Given the description of an element on the screen output the (x, y) to click on. 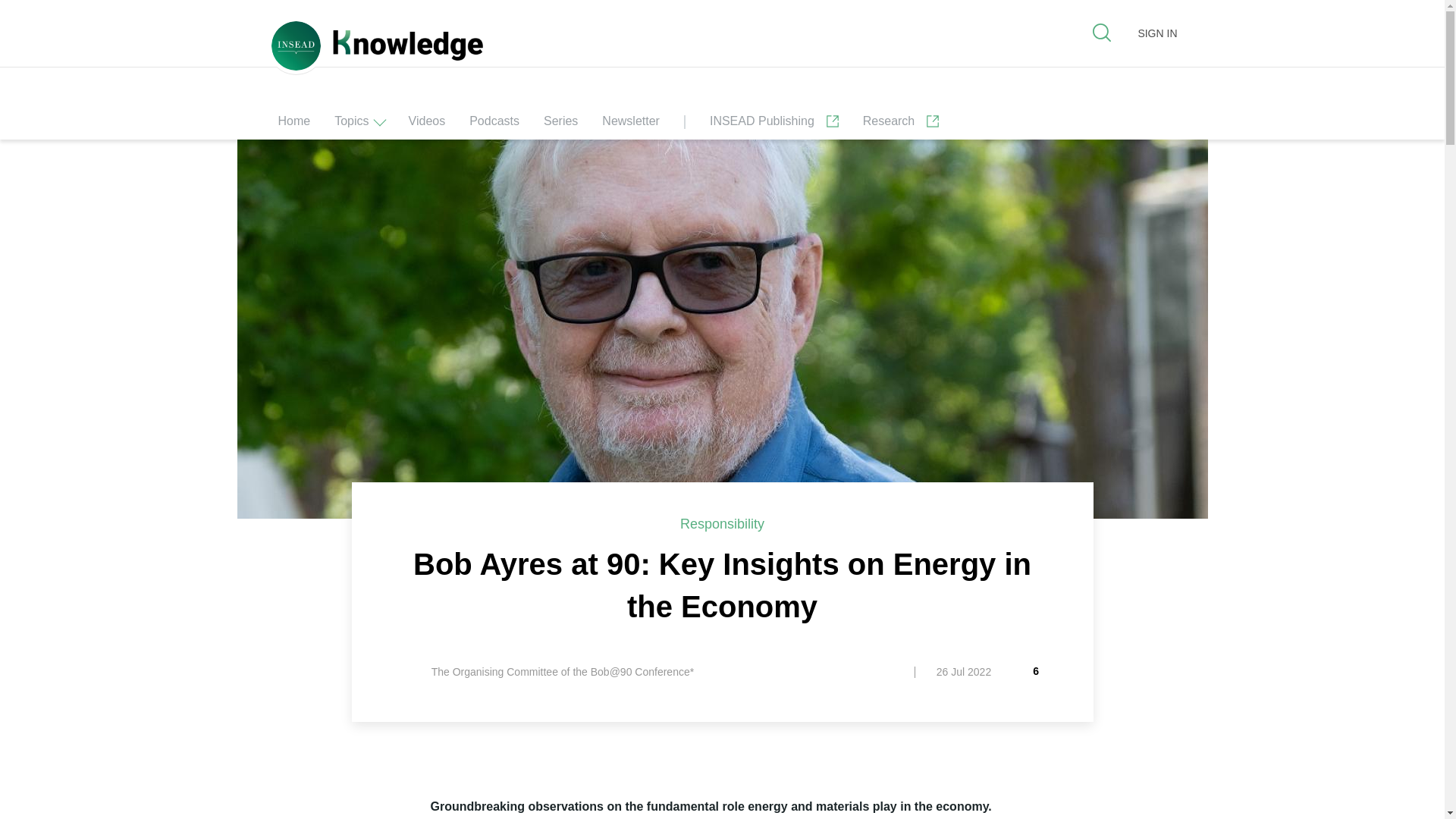
Responsibility (721, 523)
Newsletter (630, 125)
Share on LinkedIn (371, 808)
Podcasts (493, 125)
Videos (427, 125)
Research (901, 125)
INSEAD Publishing (774, 125)
Series (560, 125)
Share on LinkedIn (371, 808)
